Given the description of an element on the screen output the (x, y) to click on. 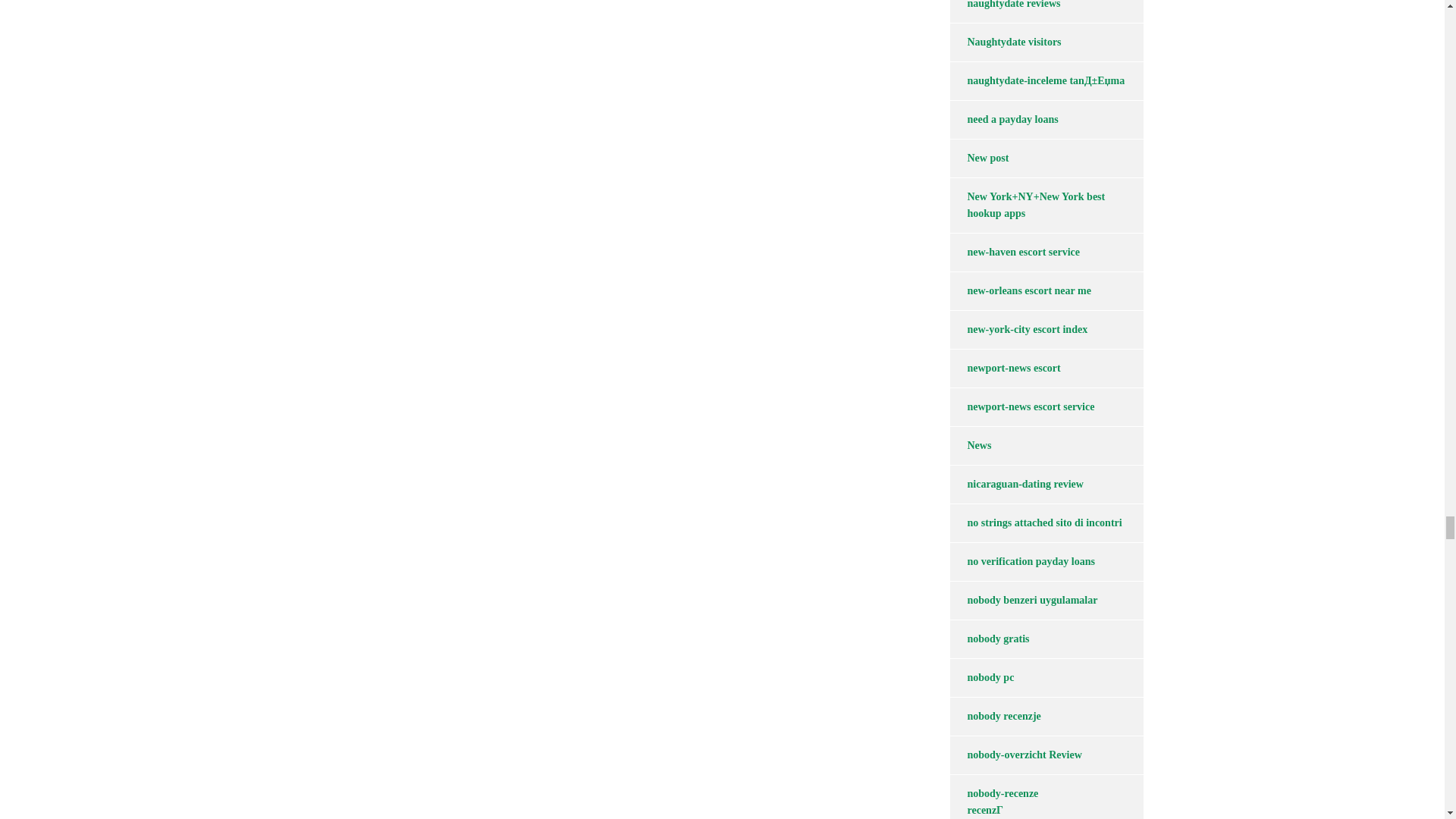
News (970, 445)
